Given the description of an element on the screen output the (x, y) to click on. 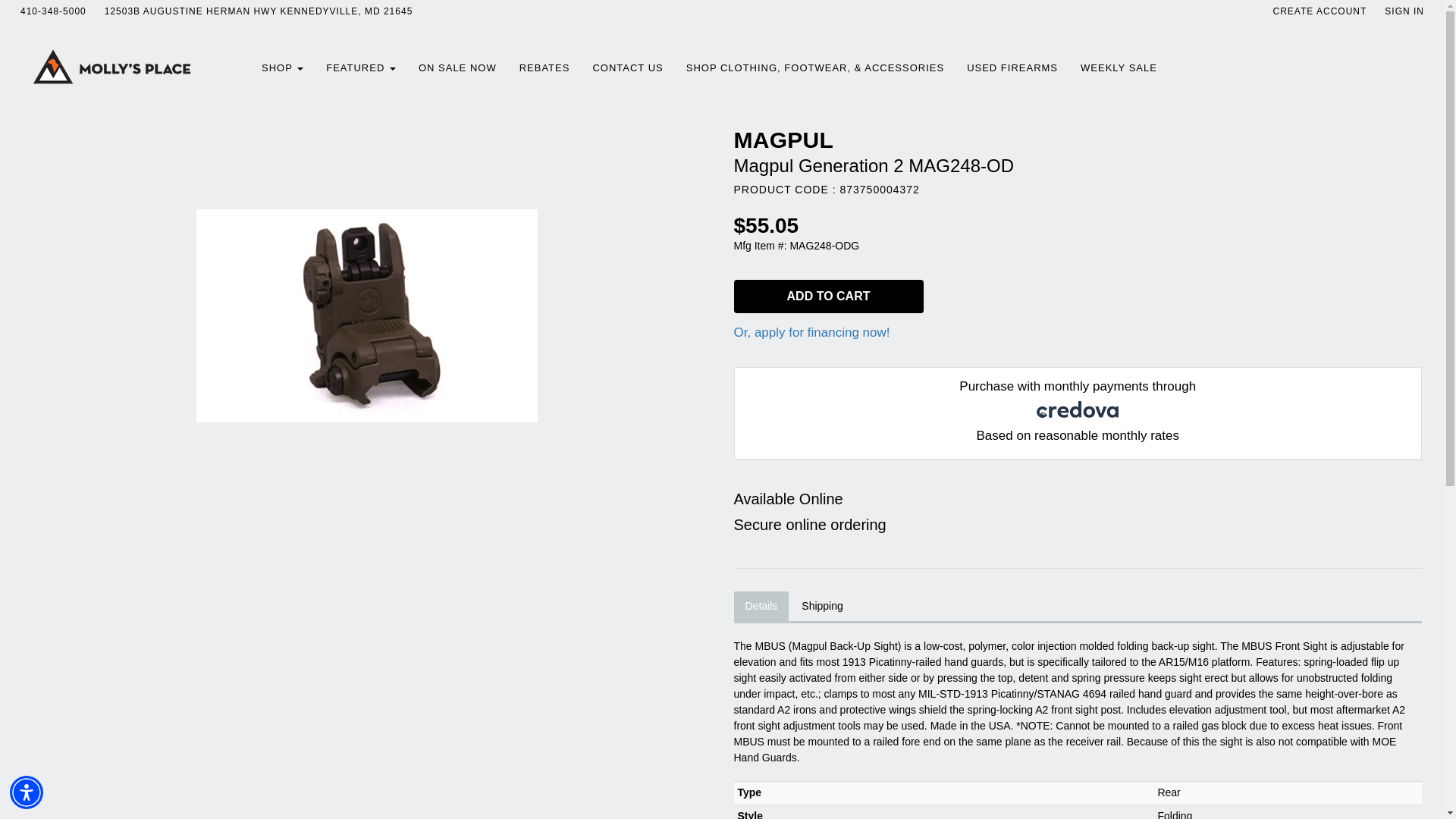
CREATE ACCOUNT (1319, 11)
SIGN IN (1403, 11)
CONTACT US (627, 67)
FEATURED (360, 67)
410-348-5000 (53, 11)
WEEKLY SALE (1118, 67)
Accessibility Menu (26, 792)
12503B AUGUSTINE HERMAN HWY KENNEDYVILLE, MD 21645 (259, 11)
ON SALE NOW (457, 67)
USED FIREARMS (1011, 67)
